Given the description of an element on the screen output the (x, y) to click on. 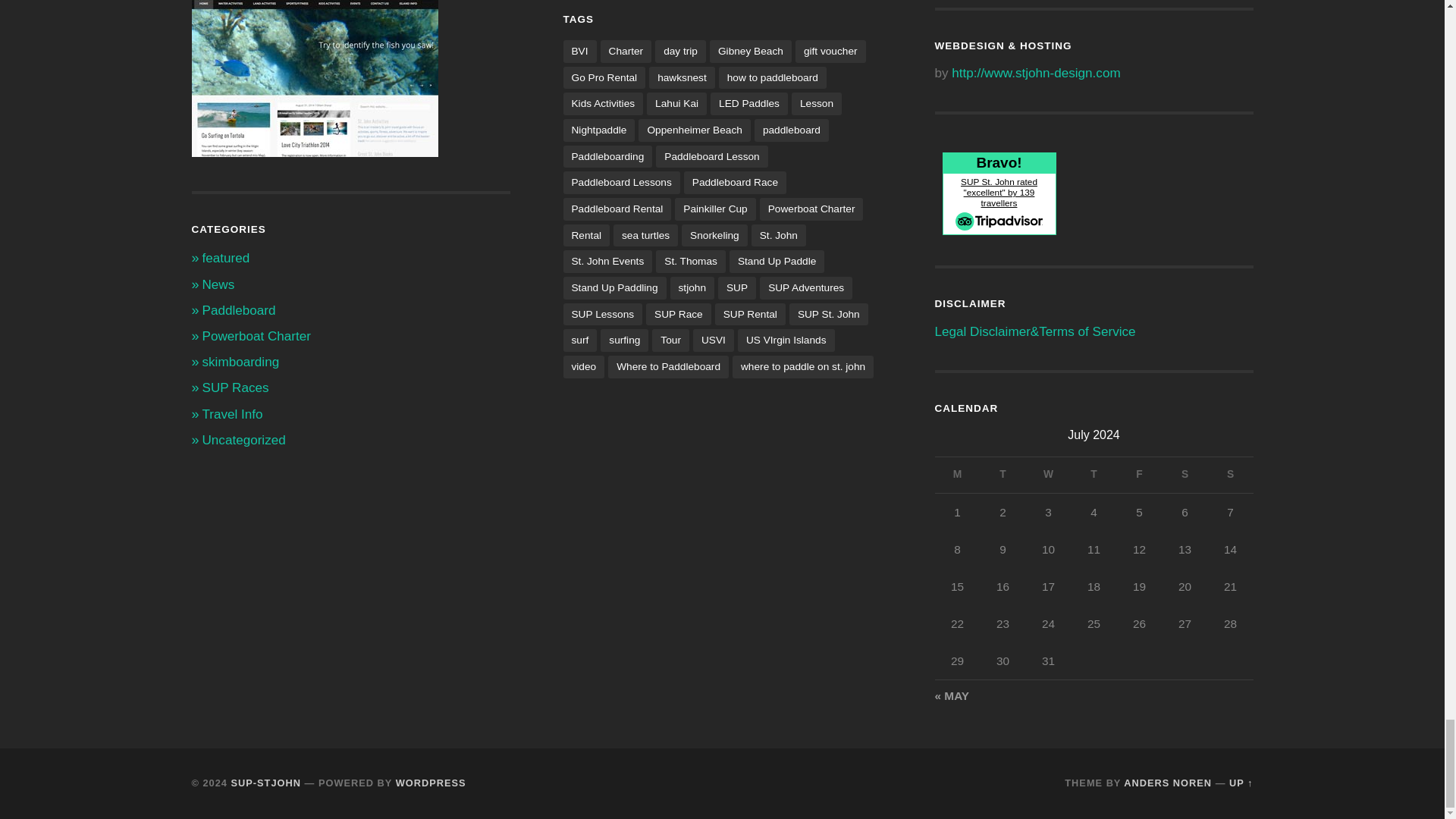
Thursday (1093, 474)
Saturday (1184, 474)
Monday (956, 474)
Wednesday (1047, 474)
Tuesday (1002, 474)
Sunday (1229, 474)
Friday (1138, 474)
St. John News and Events (218, 284)
